Given the description of an element on the screen output the (x, y) to click on. 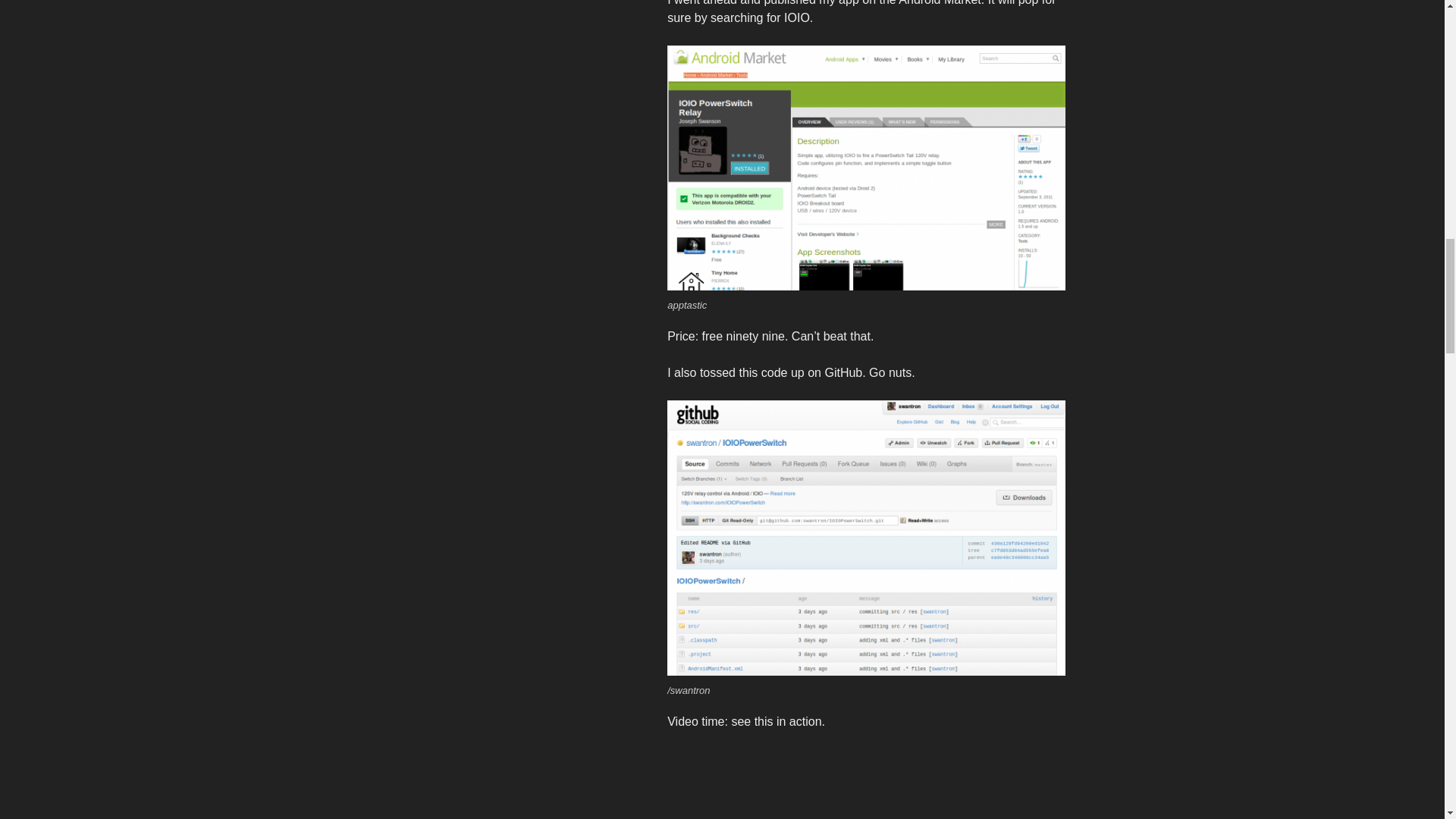
android-market (865, 167)
github (865, 537)
